Given the description of an element on the screen output the (x, y) to click on. 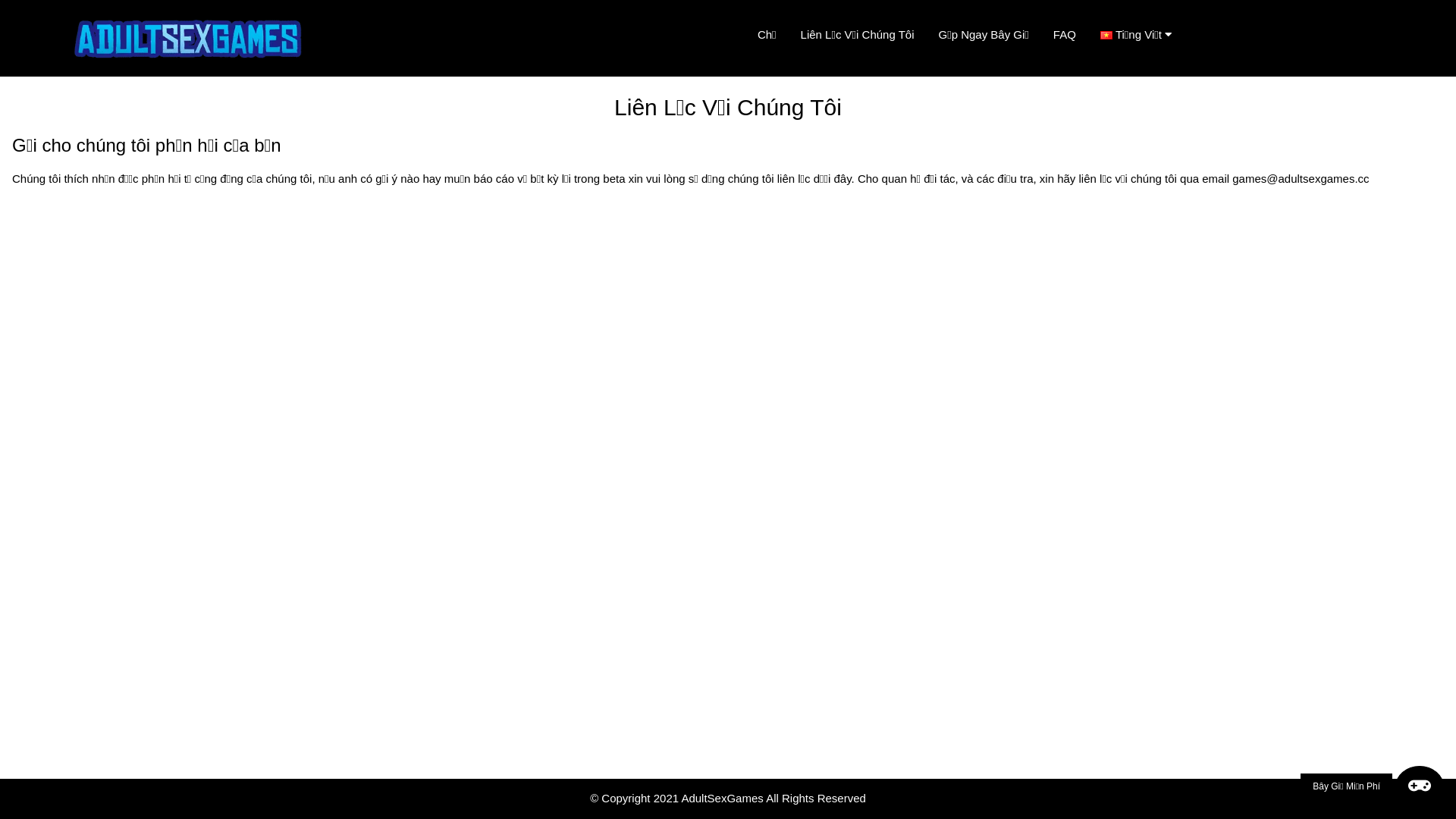
FAQ Element type: text (1064, 35)
